Given the description of an element on the screen output the (x, y) to click on. 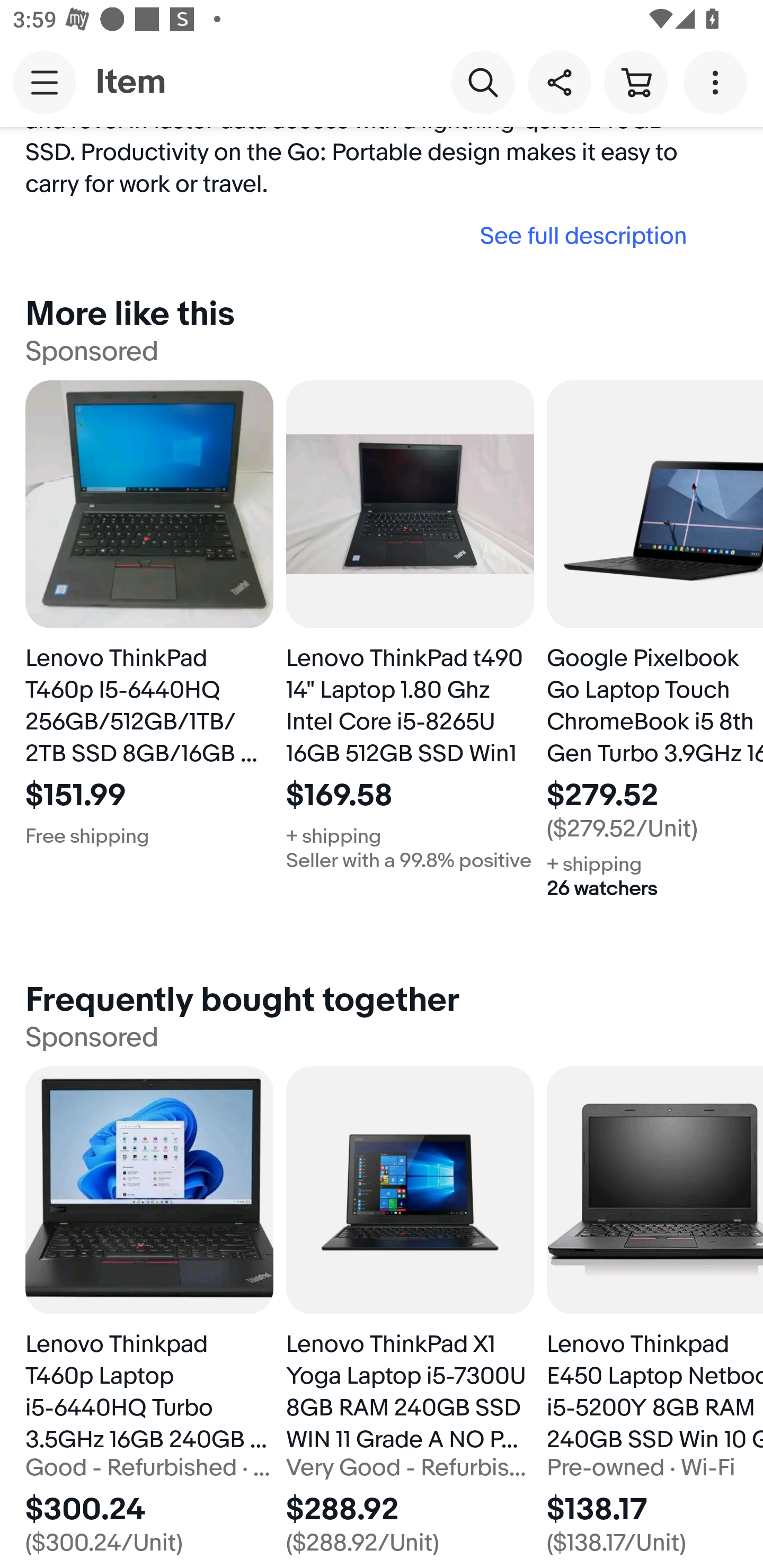
Main navigation, open (44, 82)
Search (482, 81)
Share this item (559, 81)
Cart button shopping cart (635, 81)
More options (718, 81)
See full description (362, 235)
